Given the description of an element on the screen output the (x, y) to click on. 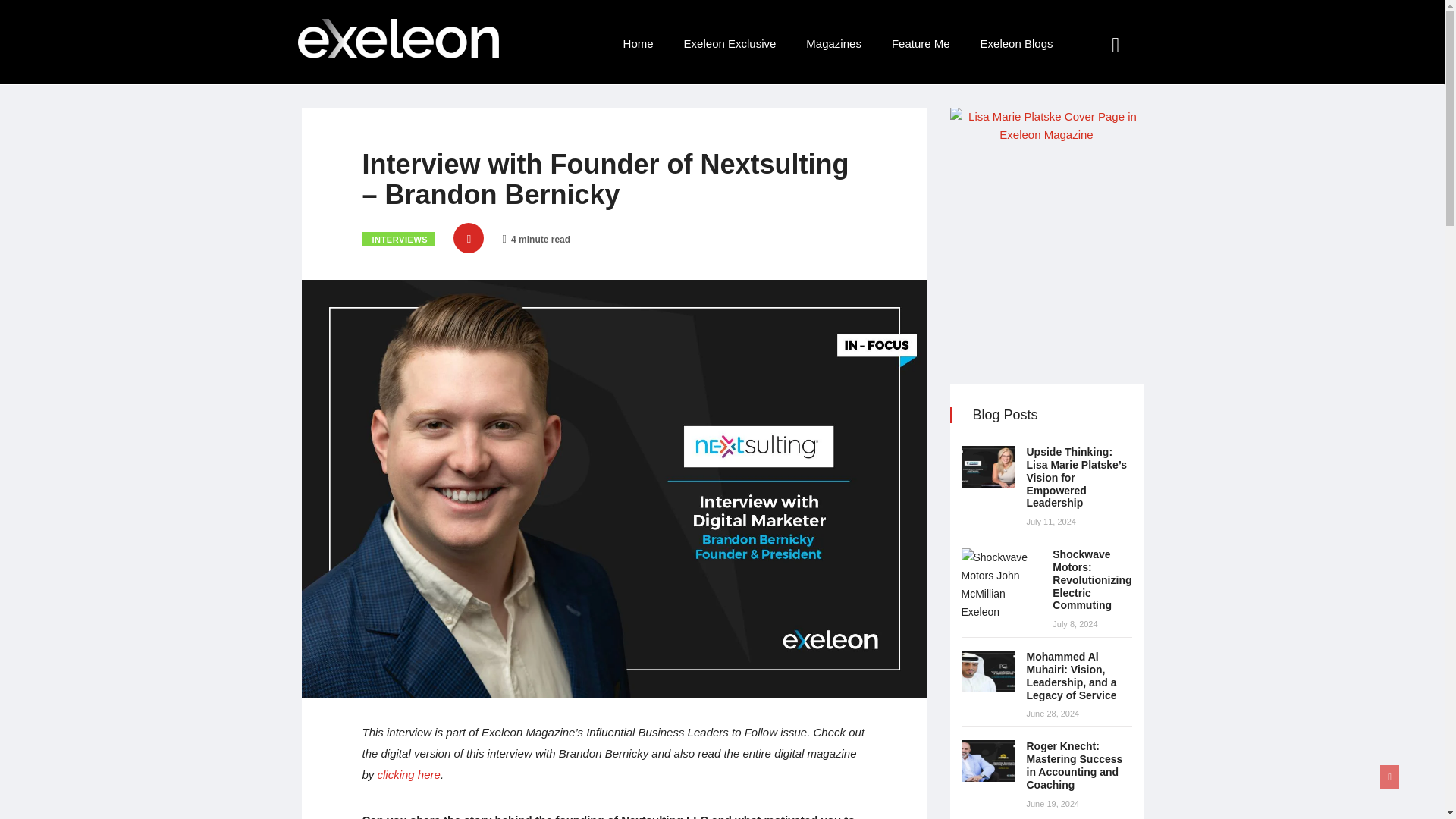
INTERVIEWS (398, 238)
Shockwave Motors: Revolutionizing Electric Commuting (1091, 578)
Feature Me (920, 43)
Exeleon Blogs (1016, 43)
Roger Knecht: Mastering Success in Accounting and Coaching (987, 761)
clicking here (409, 774)
Shockwave Motors: Revolutionizing Electric Commuting (1000, 583)
Shockwave Motors: Revolutionizing Electric Commuting (1091, 578)
Home (638, 43)
Roger Knecht: Mastering Success in Accounting and Coaching (1074, 765)
Magazines (833, 43)
Exeleon Exclusive (730, 43)
Roger Knecht: Mastering Success in Accounting and Coaching (1074, 765)
